Given the description of an element on the screen output the (x, y) to click on. 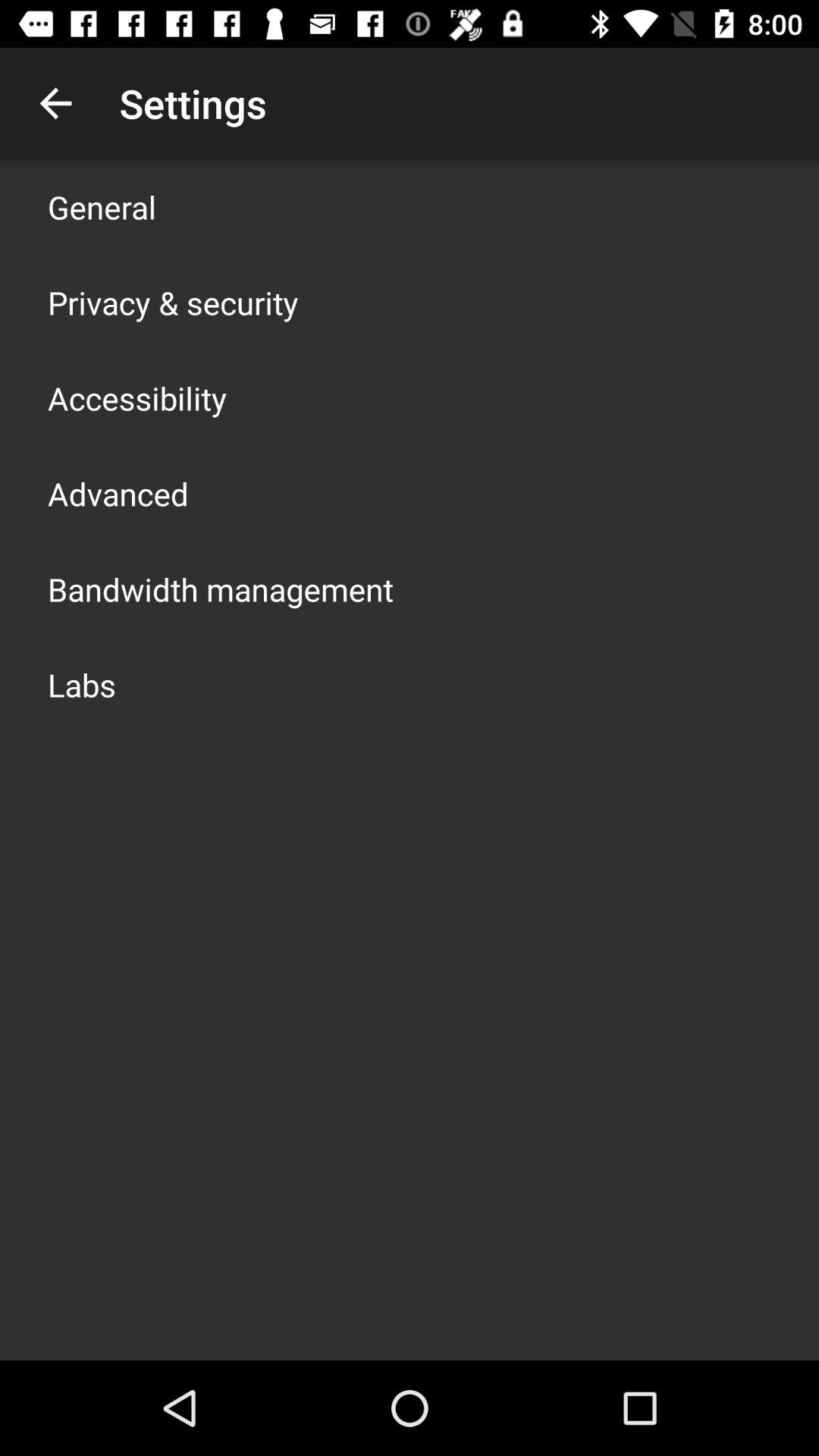
choose the app next to the settings app (55, 103)
